Given the description of an element on the screen output the (x, y) to click on. 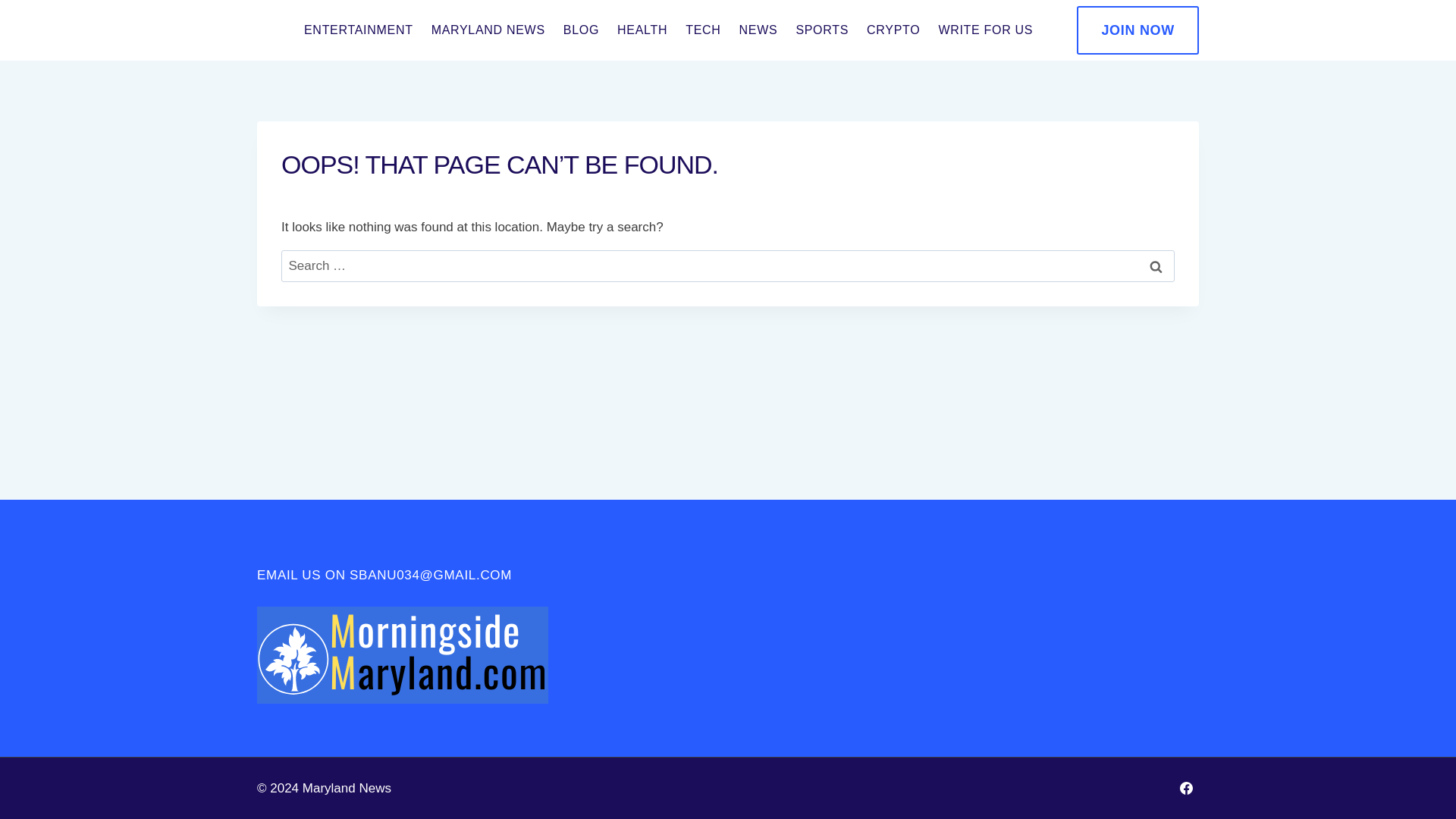
ENTERTAINMENT (358, 30)
Search (1155, 266)
JOIN NOW (1137, 30)
TECH (703, 30)
SPORTS (821, 30)
CRYPTO (892, 30)
WRITE FOR US (985, 30)
Search (1155, 266)
BLOG (581, 30)
HEALTH (642, 30)
